Given the description of an element on the screen output the (x, y) to click on. 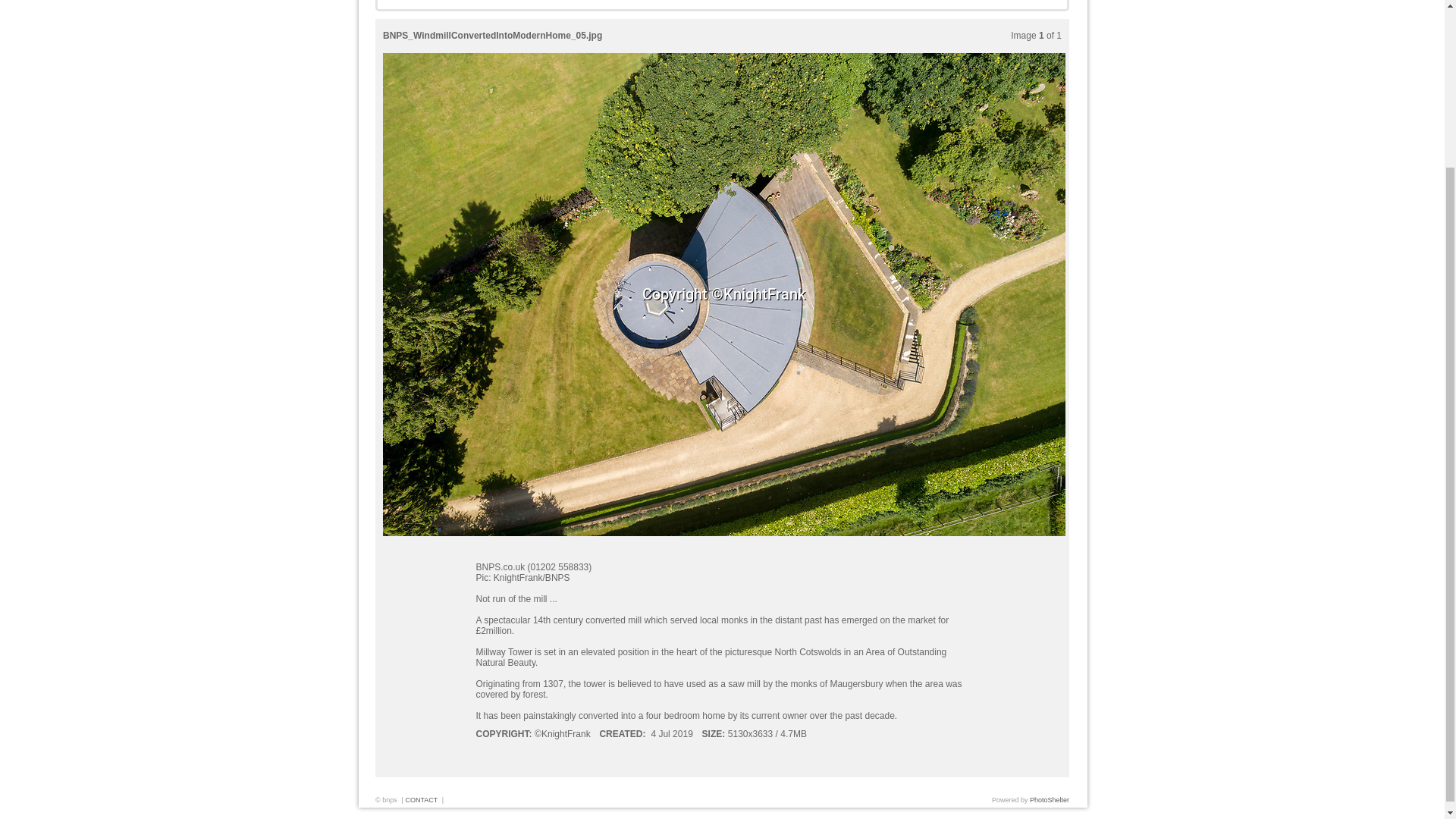
PhotoShelter (1048, 799)
CONTACT (421, 799)
